Given the description of an element on the screen output the (x, y) to click on. 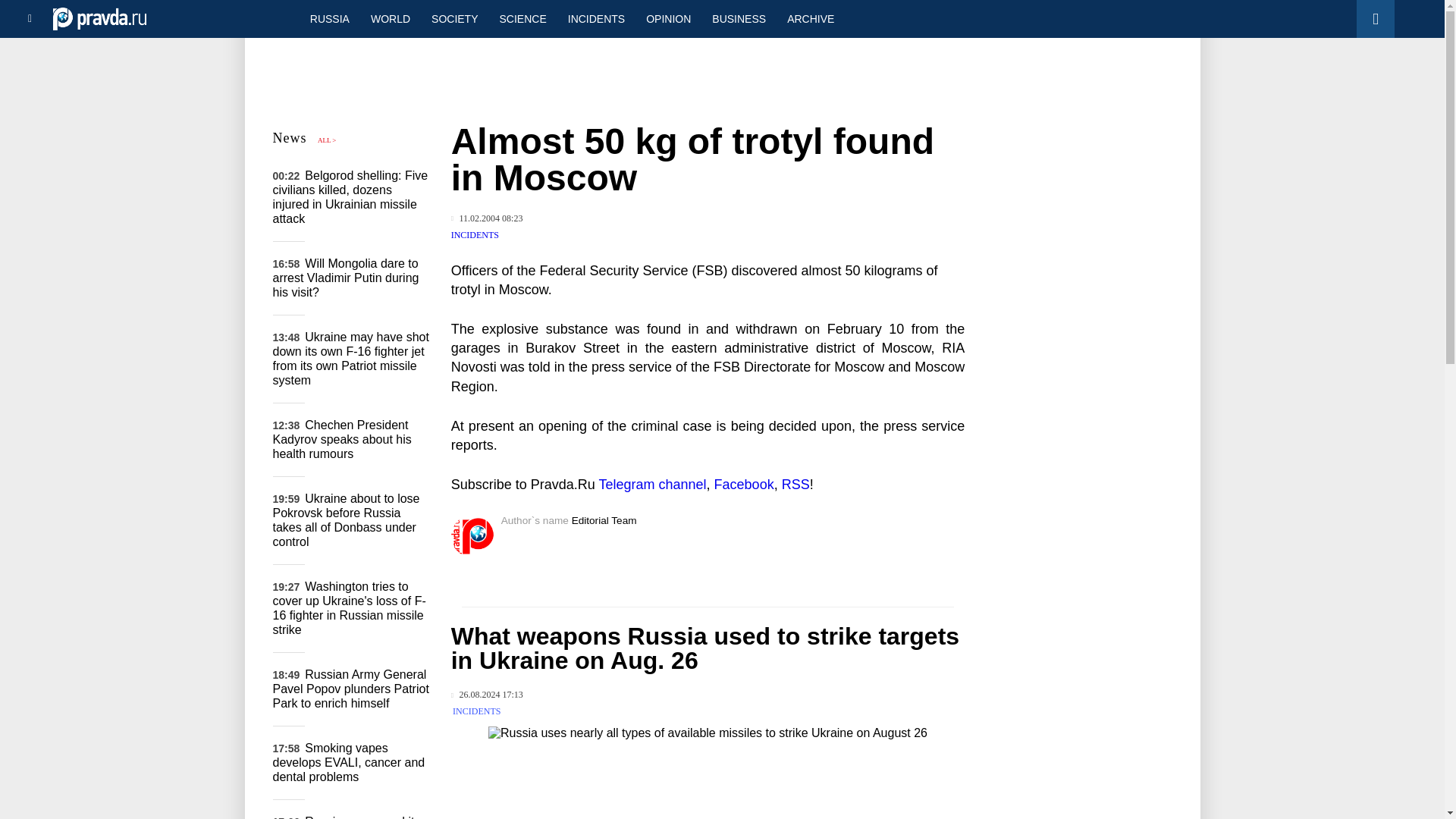
SOCIETY (453, 18)
RSS (795, 484)
News (290, 137)
Chechen President Kadyrov speaks about his health rumours (342, 439)
INCIDENTS (476, 710)
INCIDENTS (475, 235)
INCIDENTS (595, 18)
Smoking vapes develops EVALI, cancer and dental problems (349, 762)
